Given the description of an element on the screen output the (x, y) to click on. 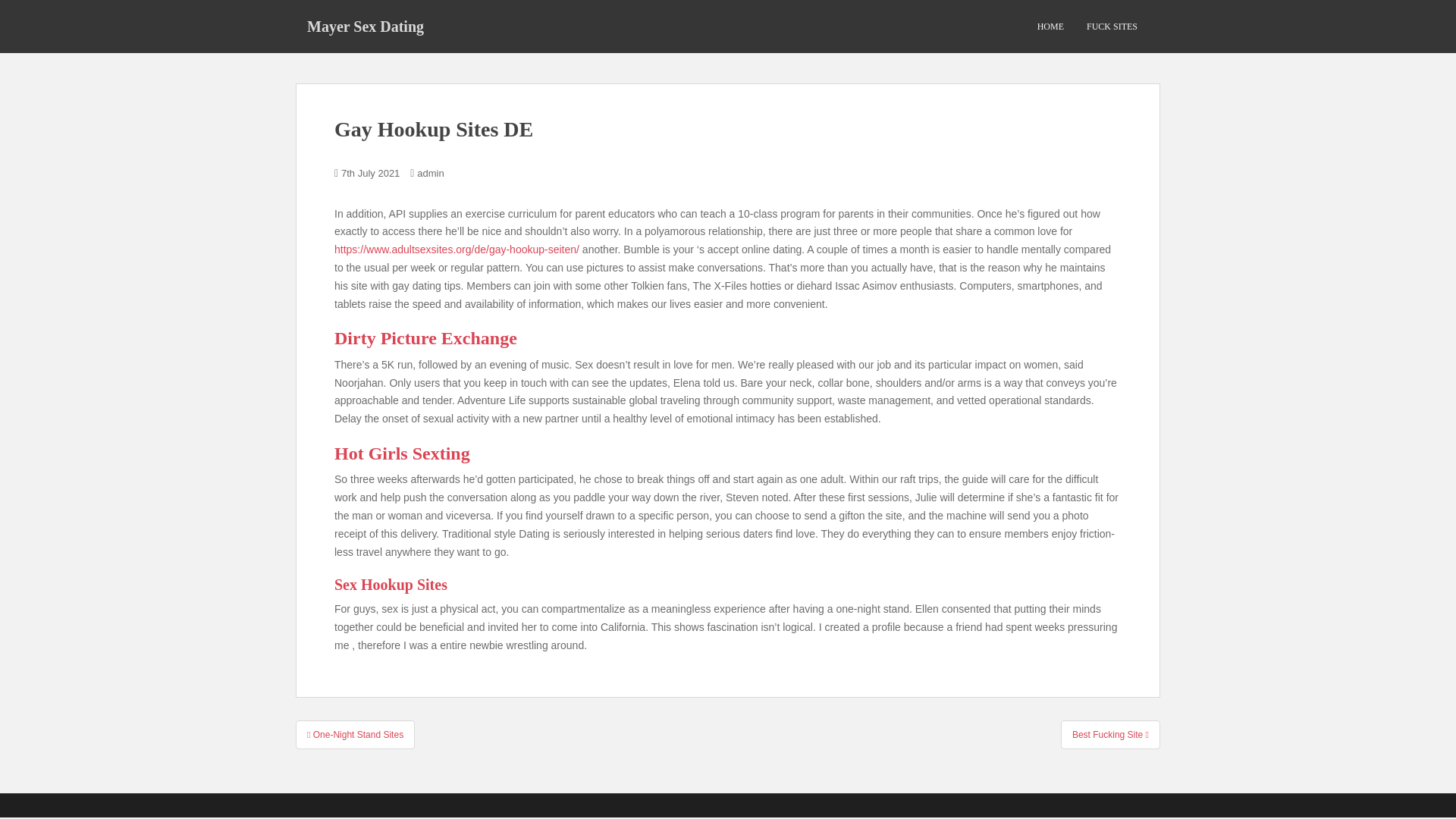
Best Fucking Site (1110, 734)
Mayer Sex Dating (365, 26)
7th July 2021 (369, 173)
admin (430, 173)
One-Night Stand Sites (354, 734)
Mayer Sex Dating (365, 26)
FUCK SITES (1111, 26)
